Given the description of an element on the screen output the (x, y) to click on. 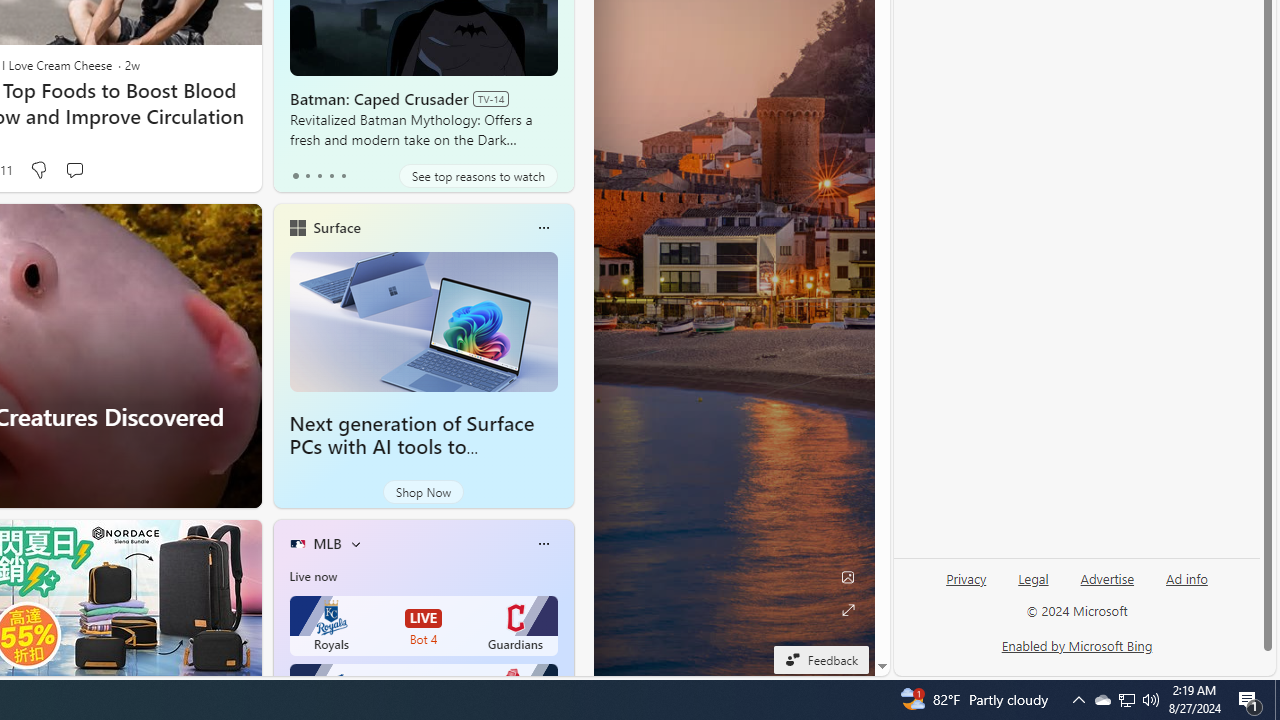
MLB (327, 543)
See top reasons to watch (478, 175)
Expand background (847, 610)
tab-3 (331, 175)
tab-1 (306, 175)
Edit Background (847, 577)
tab-0 (295, 175)
